Given the description of an element on the screen output the (x, y) to click on. 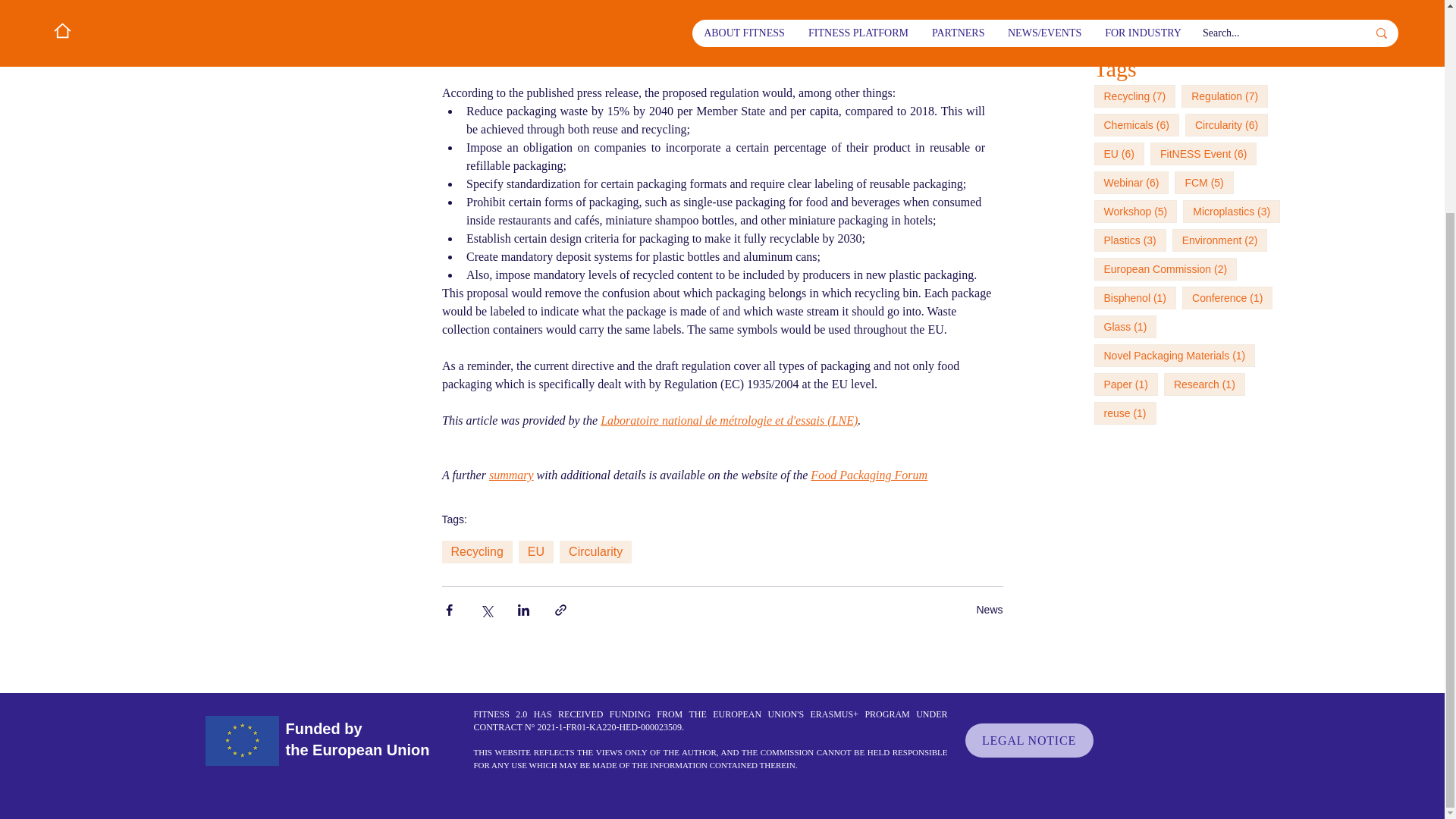
summary (509, 474)
available on the EC website (732, 56)
EU (535, 551)
Recycling (476, 551)
Circularity (595, 551)
press release (782, 4)
News (989, 608)
Food Packaging Forum (868, 474)
